Given the description of an element on the screen output the (x, y) to click on. 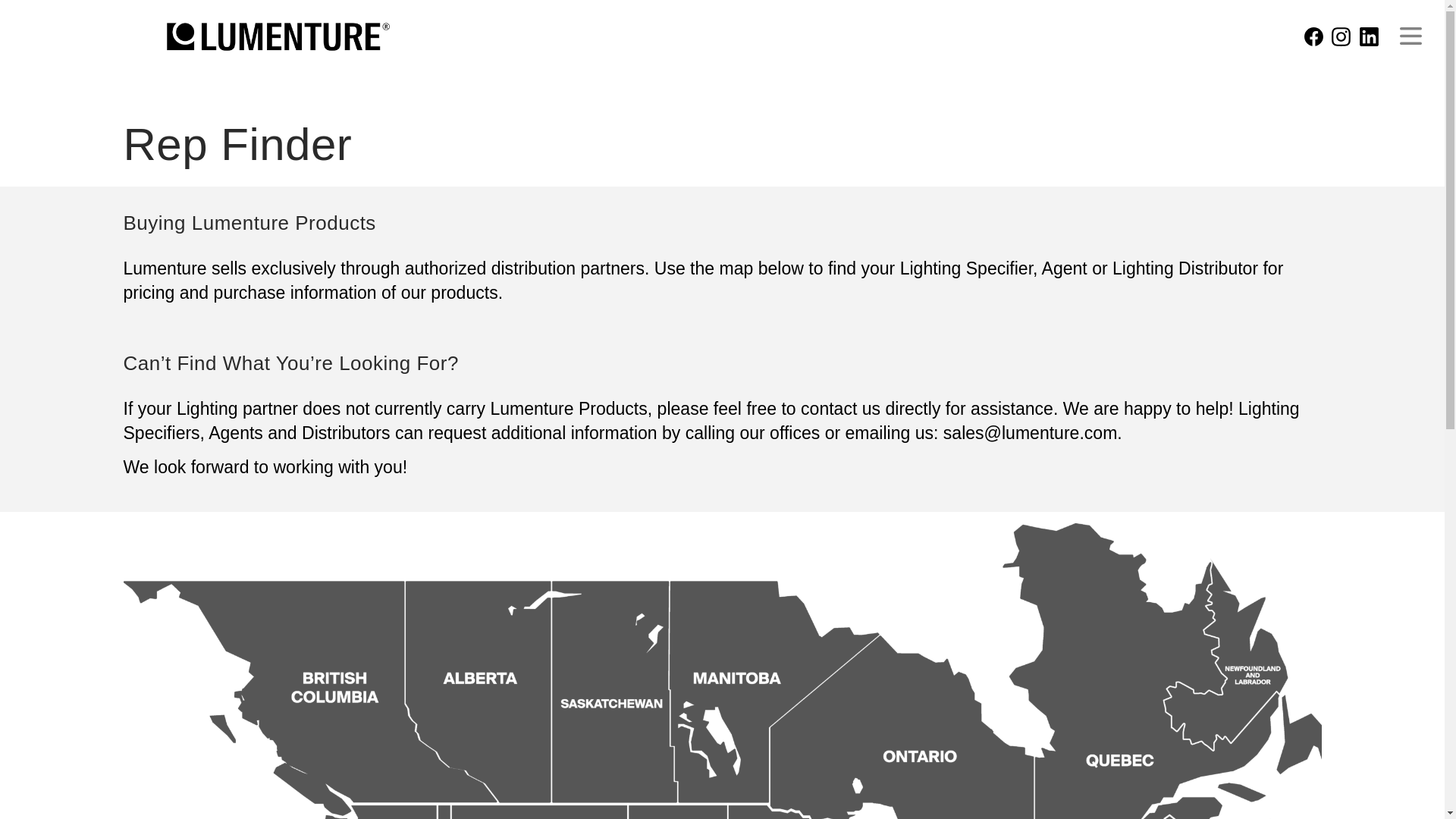
Lumenture (277, 36)
